Given the description of an element on the screen output the (x, y) to click on. 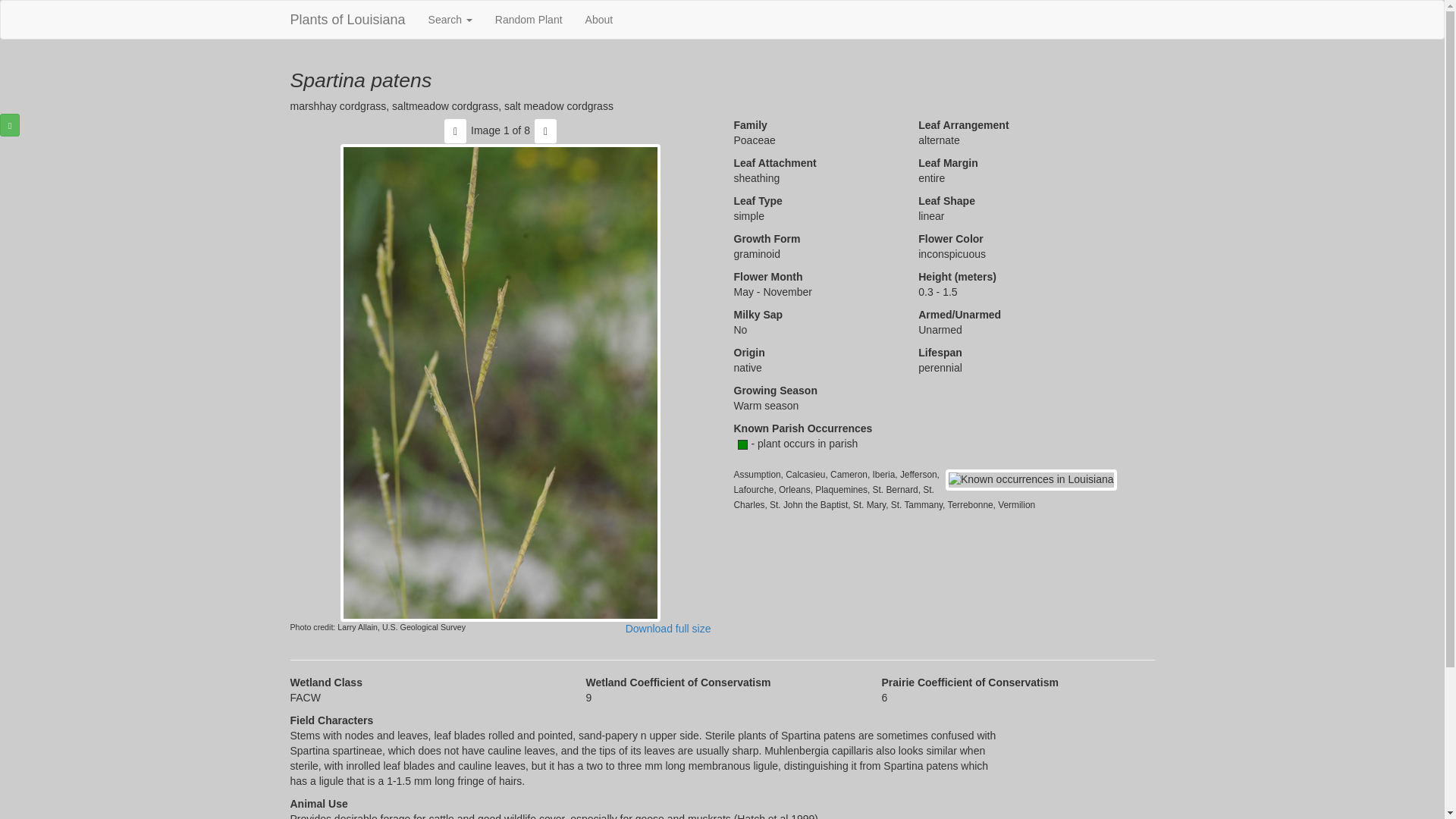
Download full size (668, 628)
Search (449, 19)
Random Plant (528, 19)
Plants of Louisiana (347, 19)
About (598, 19)
